Given the description of an element on the screen output the (x, y) to click on. 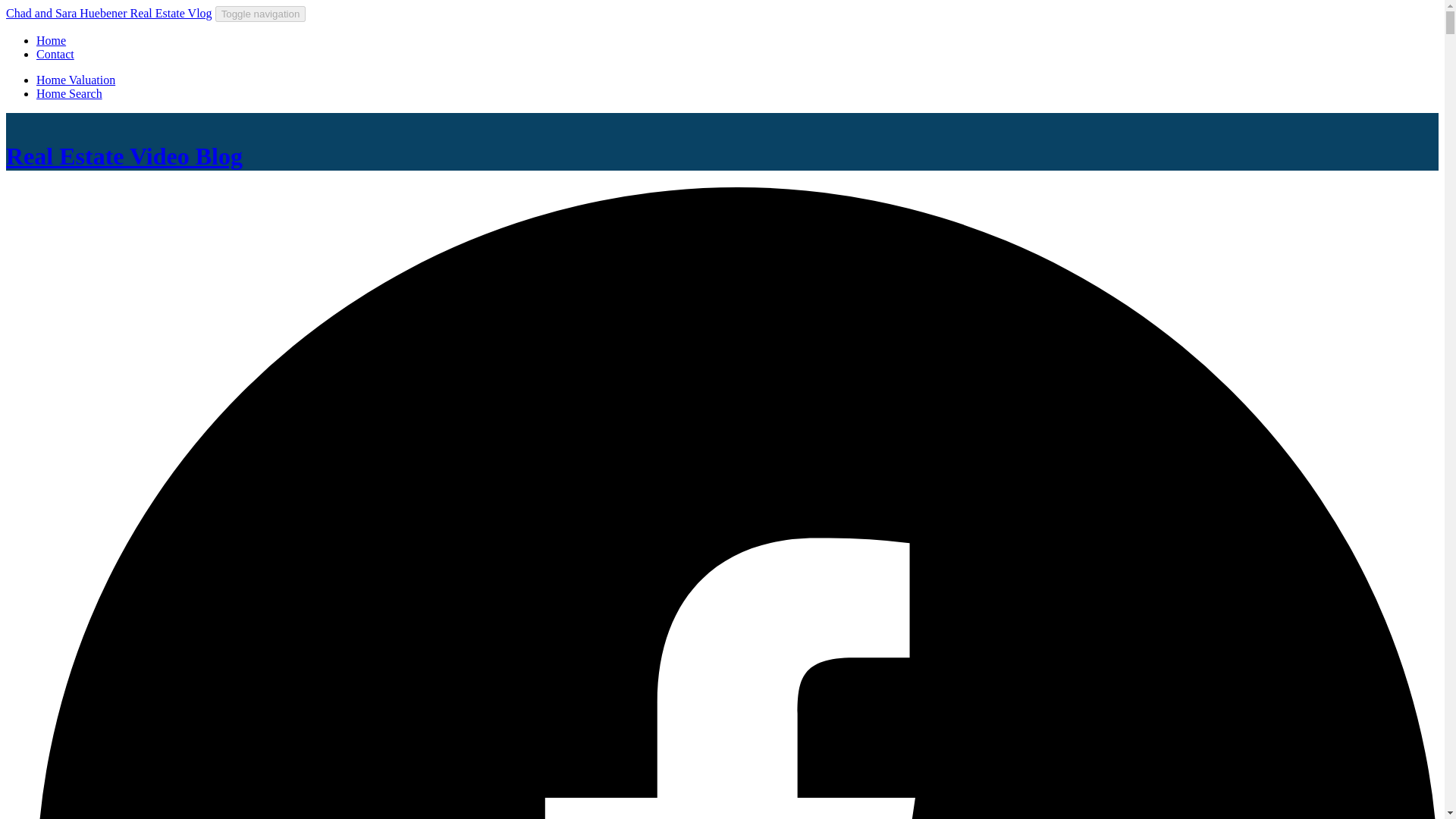
Toggle navigation (260, 13)
Home (50, 40)
Chad and Sara Huebener Real Estate Vlog (108, 12)
Contact (55, 53)
Home Search (68, 92)
Home Valuation (75, 79)
